Given the description of an element on the screen output the (x, y) to click on. 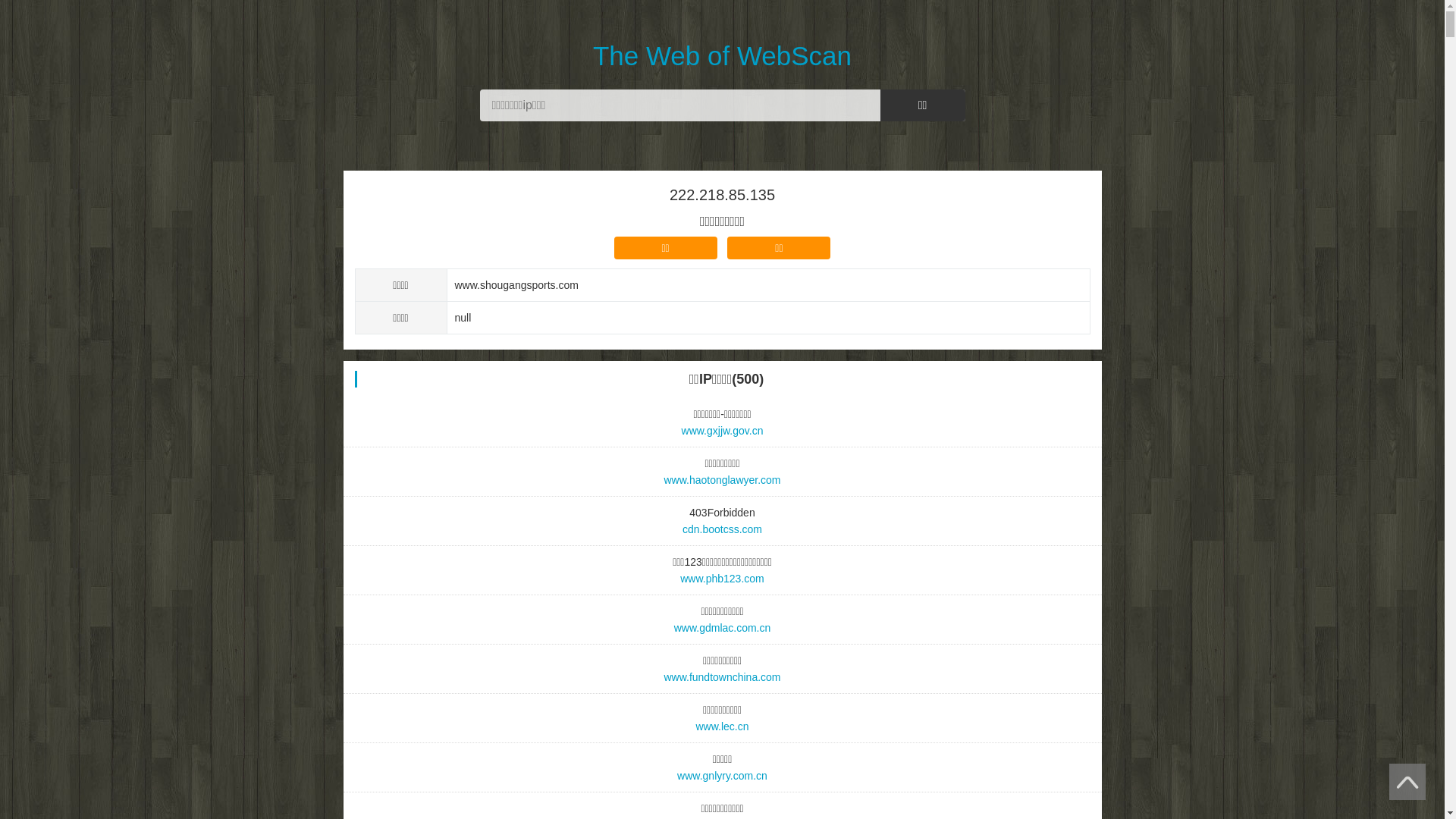
The Web of WebScan Element type: text (722, 36)
www.phb123.com Element type: text (722, 578)
www.lec.cn Element type: text (722, 726)
www.gdmlac.com.cn Element type: text (722, 627)
cdn.bootcss.com Element type: text (722, 528)
www.fundtownchina.com Element type: text (722, 676)
www.haotonglawyer.com Element type: text (722, 479)
www.gxjjw.gov.cn Element type: text (722, 430)
www.gnlyry.com.cn Element type: text (722, 775)
